Given the description of an element on the screen output the (x, y) to click on. 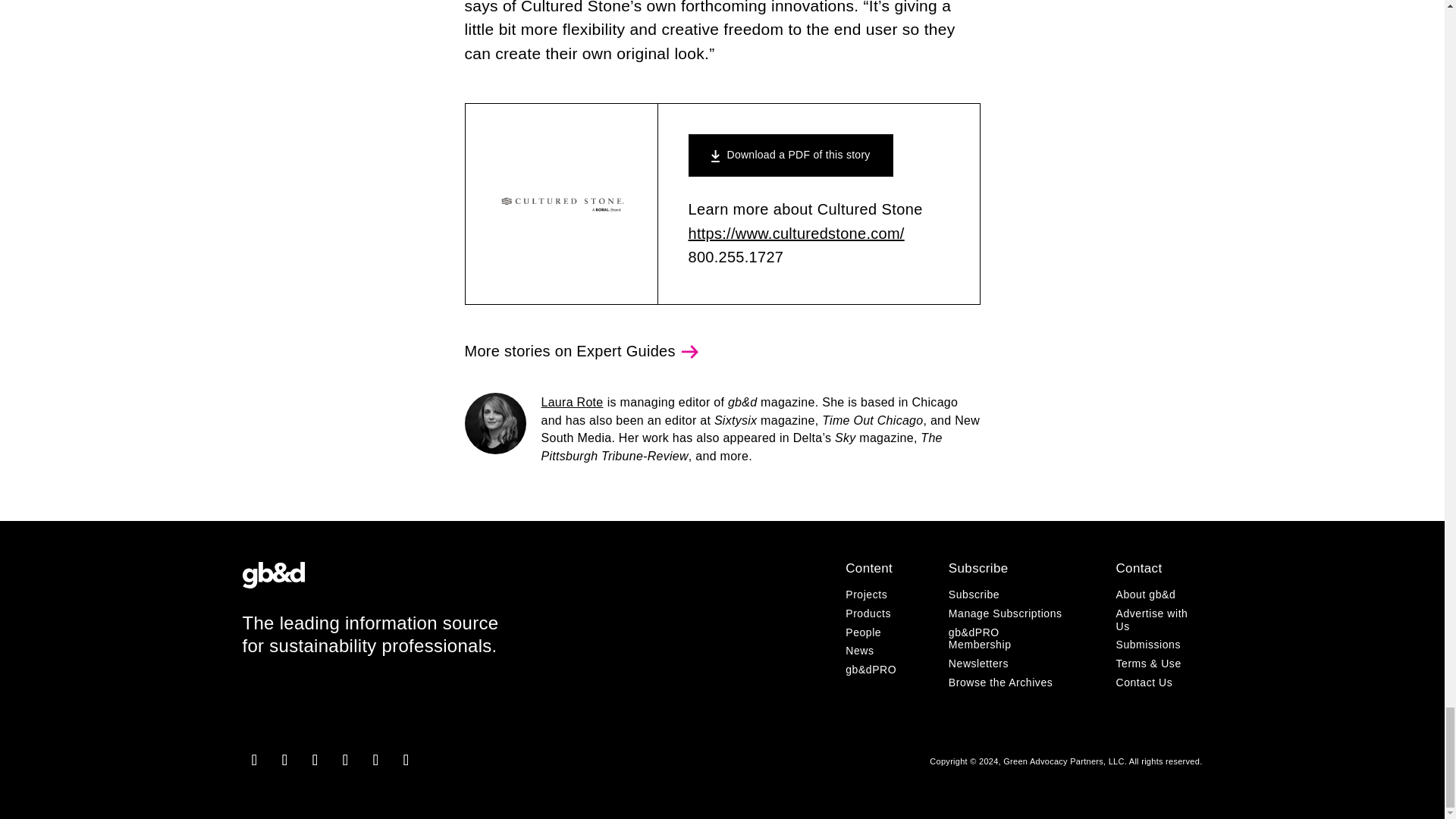
Follow on Twitter (345, 759)
Follow on Facebook (285, 759)
More stories on Expert Guides (581, 351)
Download a PDF of this story (790, 155)
Follow on LinkedIn (314, 759)
Follow on Instagram (254, 759)
Follow on Youtube (376, 759)
Follow on RSS (406, 759)
